Given the description of an element on the screen output the (x, y) to click on. 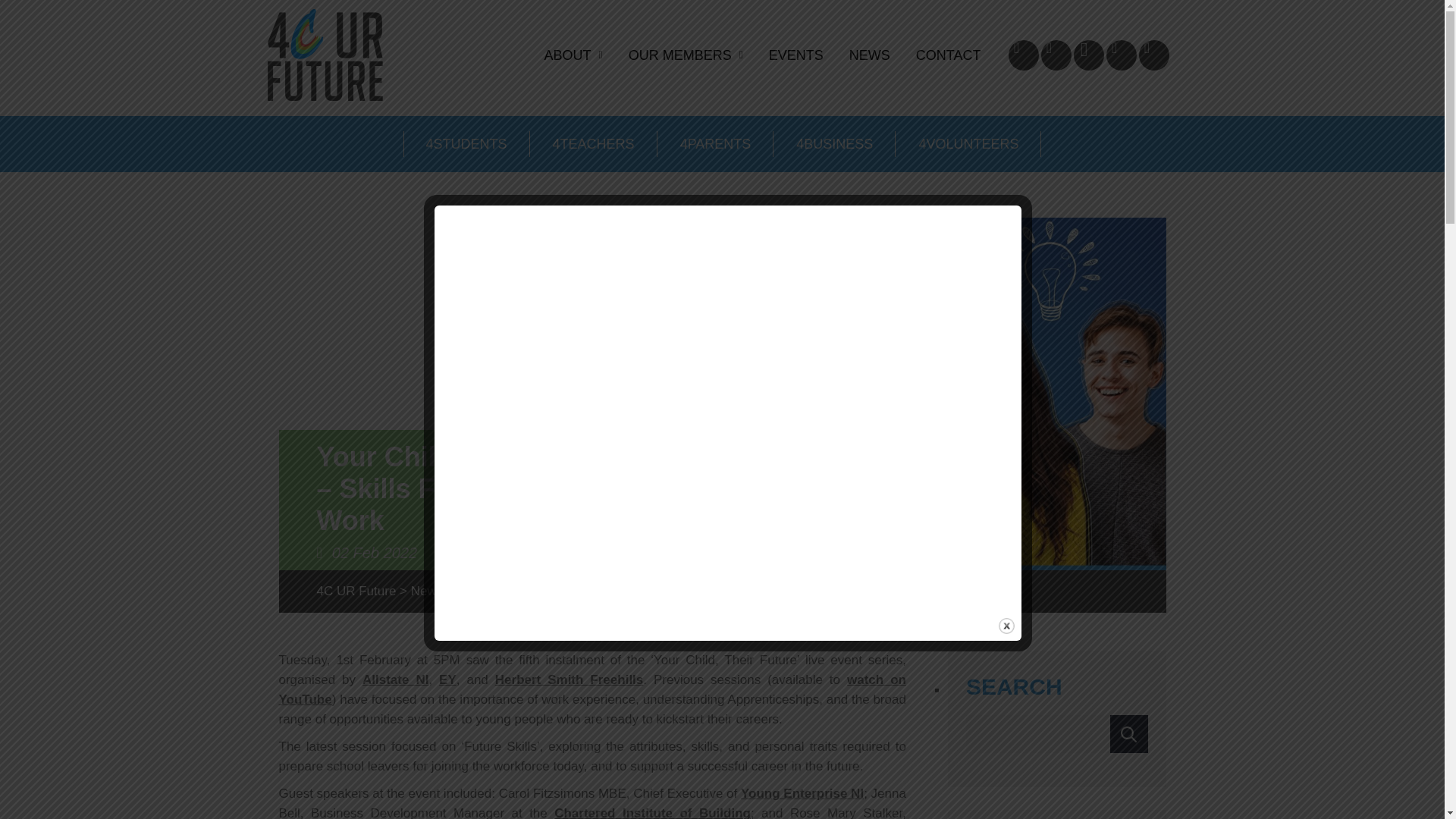
4STUDENTS (466, 143)
ABOUT (572, 54)
NEWS (868, 54)
Go to 4C UR Future. (356, 590)
CONTACT (948, 54)
EVENTS (795, 54)
Search (1128, 733)
Go to the 4Parents news category archives. (483, 590)
Search (1128, 733)
4C-Logo (323, 54)
